Given the description of an element on the screen output the (x, y) to click on. 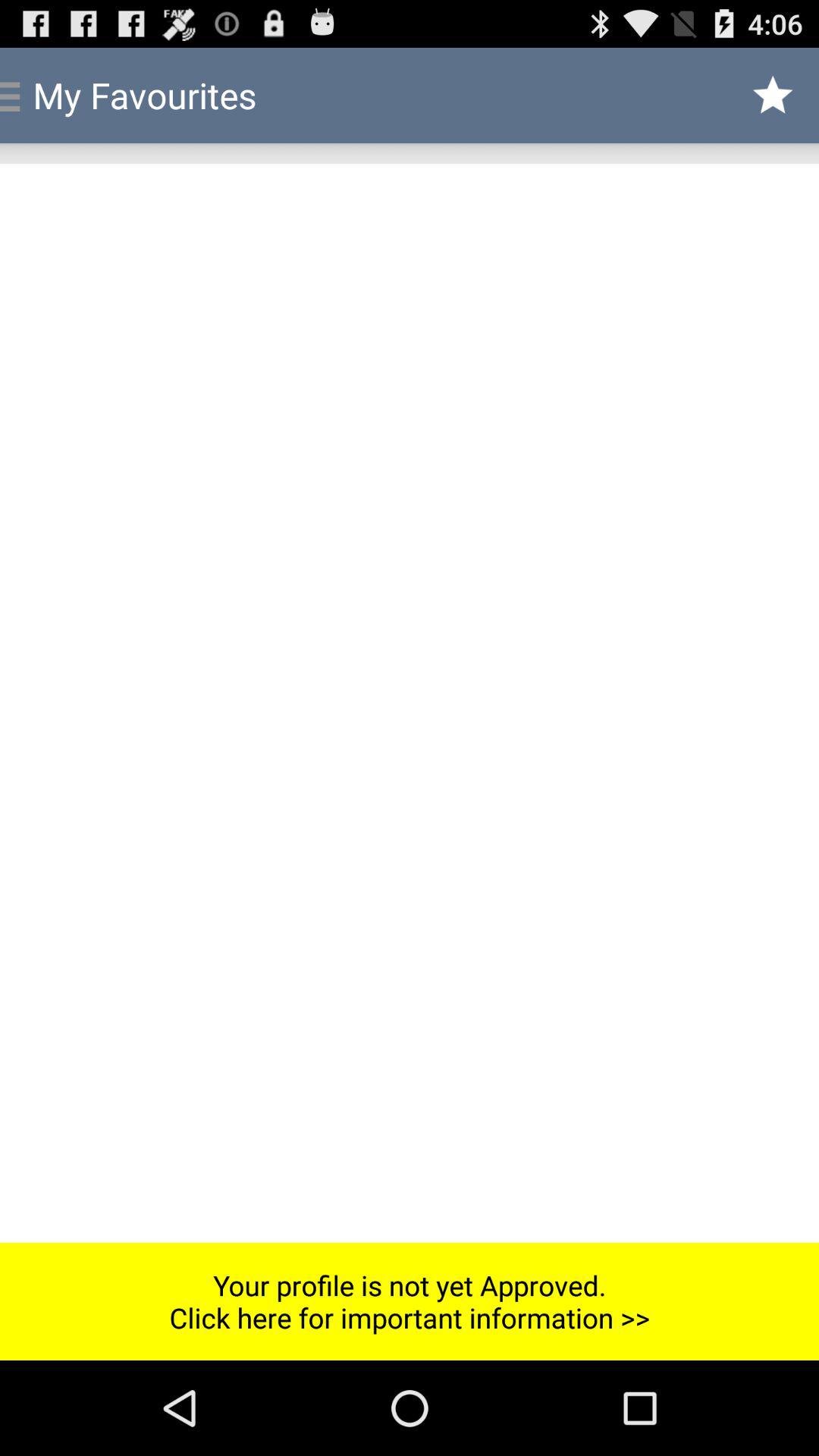
turn on the item at the bottom (409, 1301)
